Given the description of an element on the screen output the (x, y) to click on. 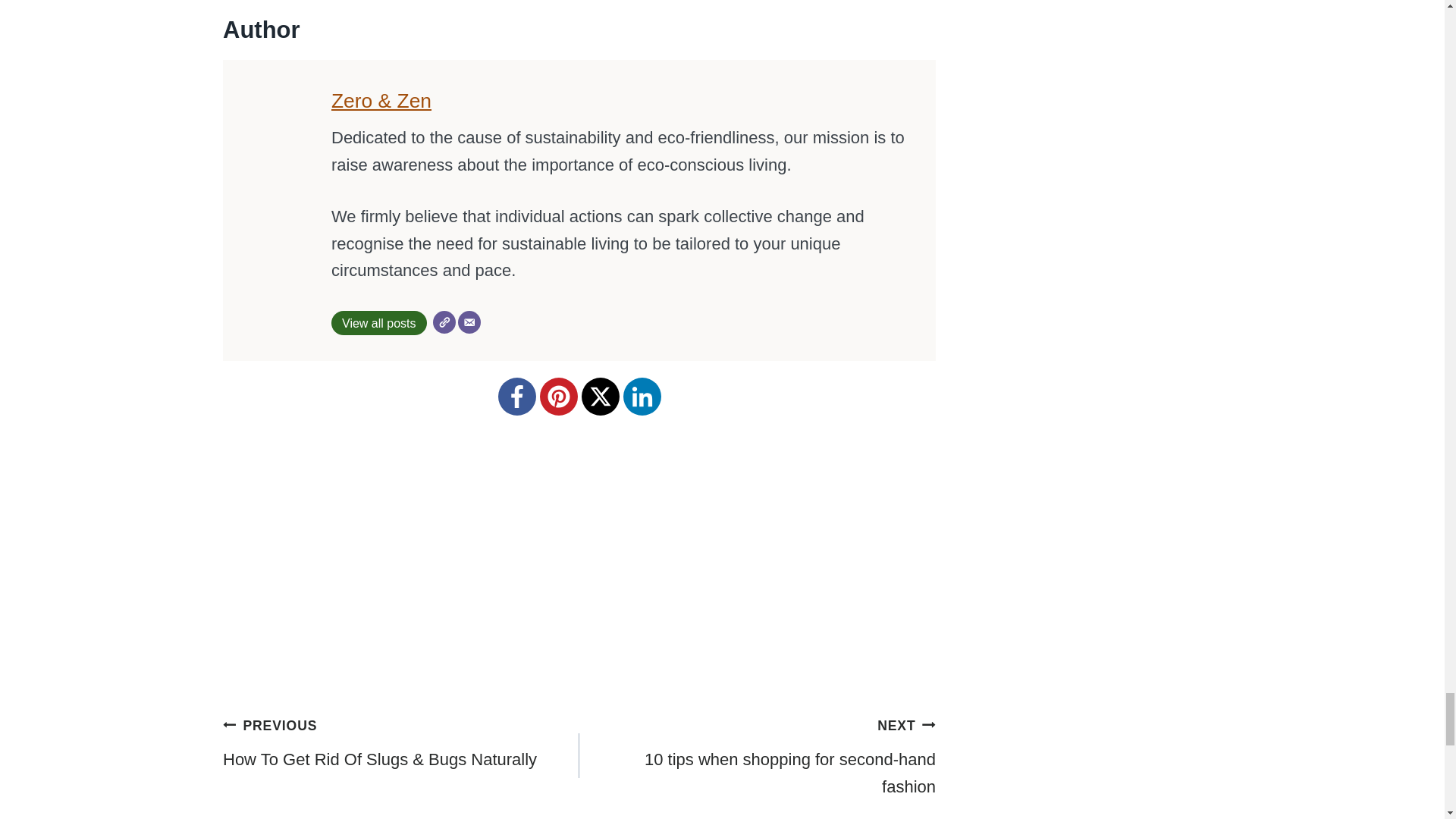
View all posts (757, 755)
View all posts (378, 322)
